Given the description of an element on the screen output the (x, y) to click on. 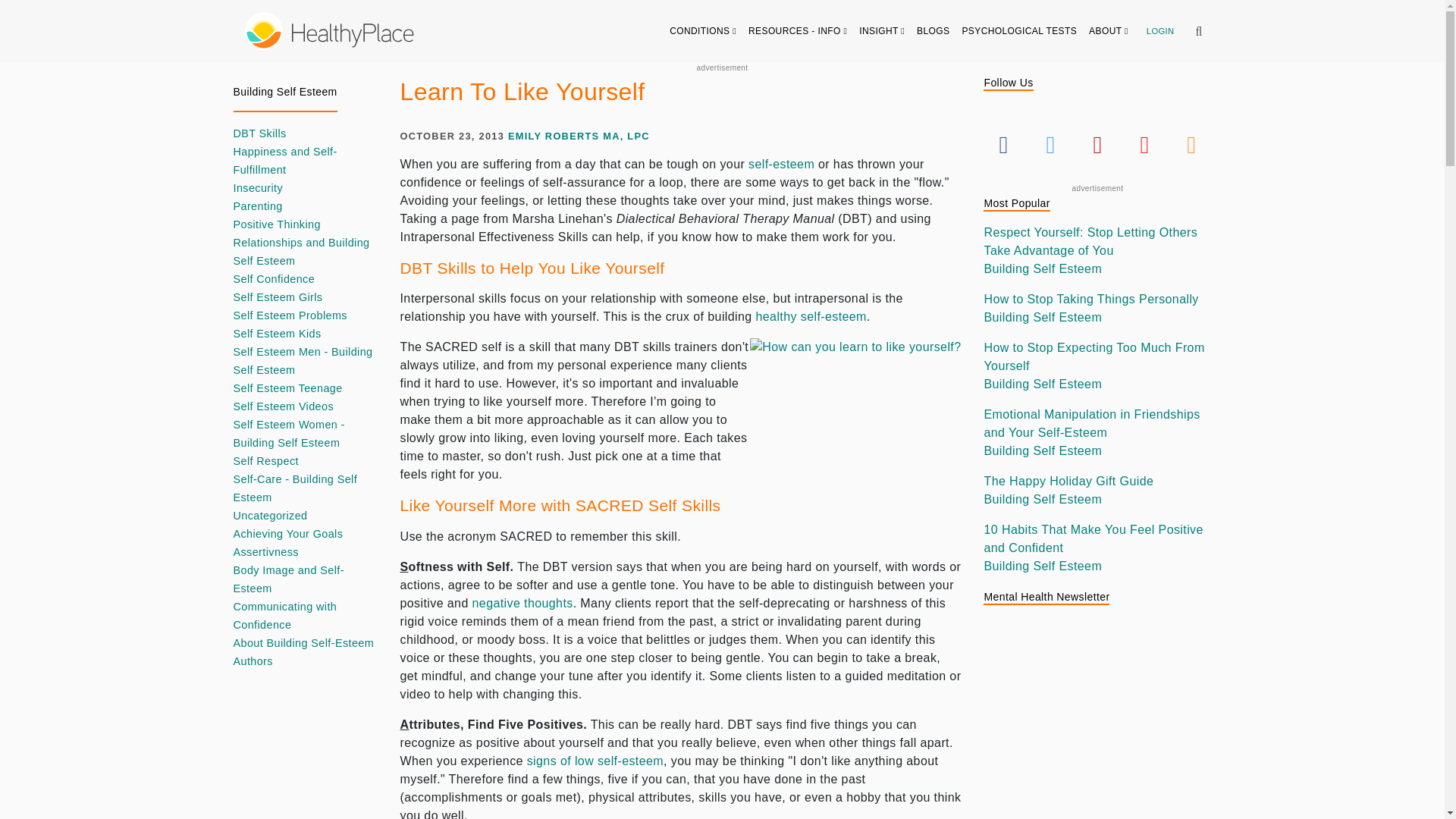
CONDITIONS (702, 31)
Get a Grip on Negative Thoughts with Distraction Skills (522, 603)
RESOURCES - INFO (797, 31)
What is Healthy Self-Esteem (810, 316)
The Difference Between Self-Esteem and Self-Confidence (780, 164)
accpect u (854, 443)
What is Low Self-Esteem (595, 760)
INSIGHT (882, 31)
